Given the description of an element on the screen output the (x, y) to click on. 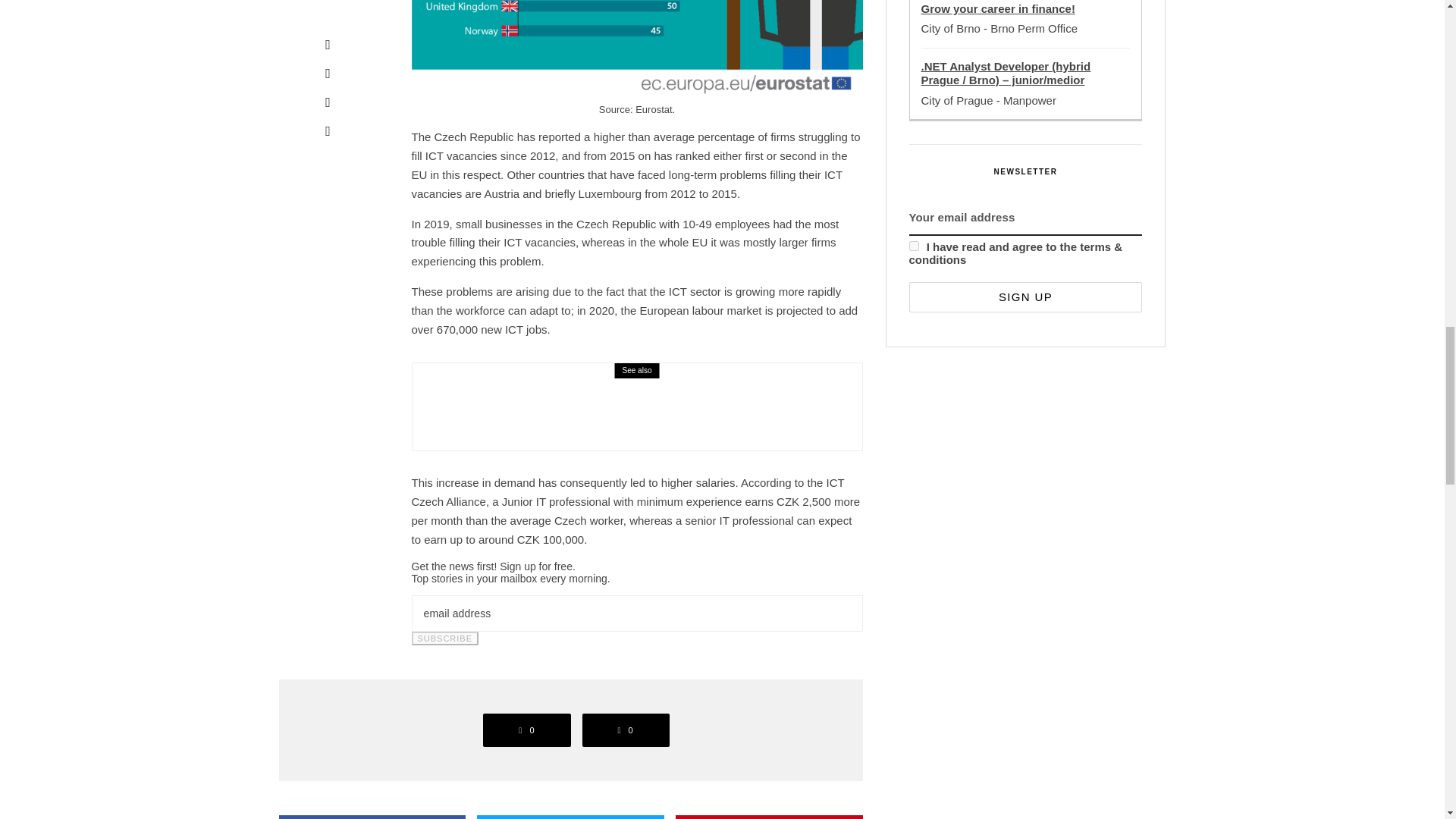
Subscribe (443, 638)
Sign up (1024, 296)
1 (913, 245)
